Given the description of an element on the screen output the (x, y) to click on. 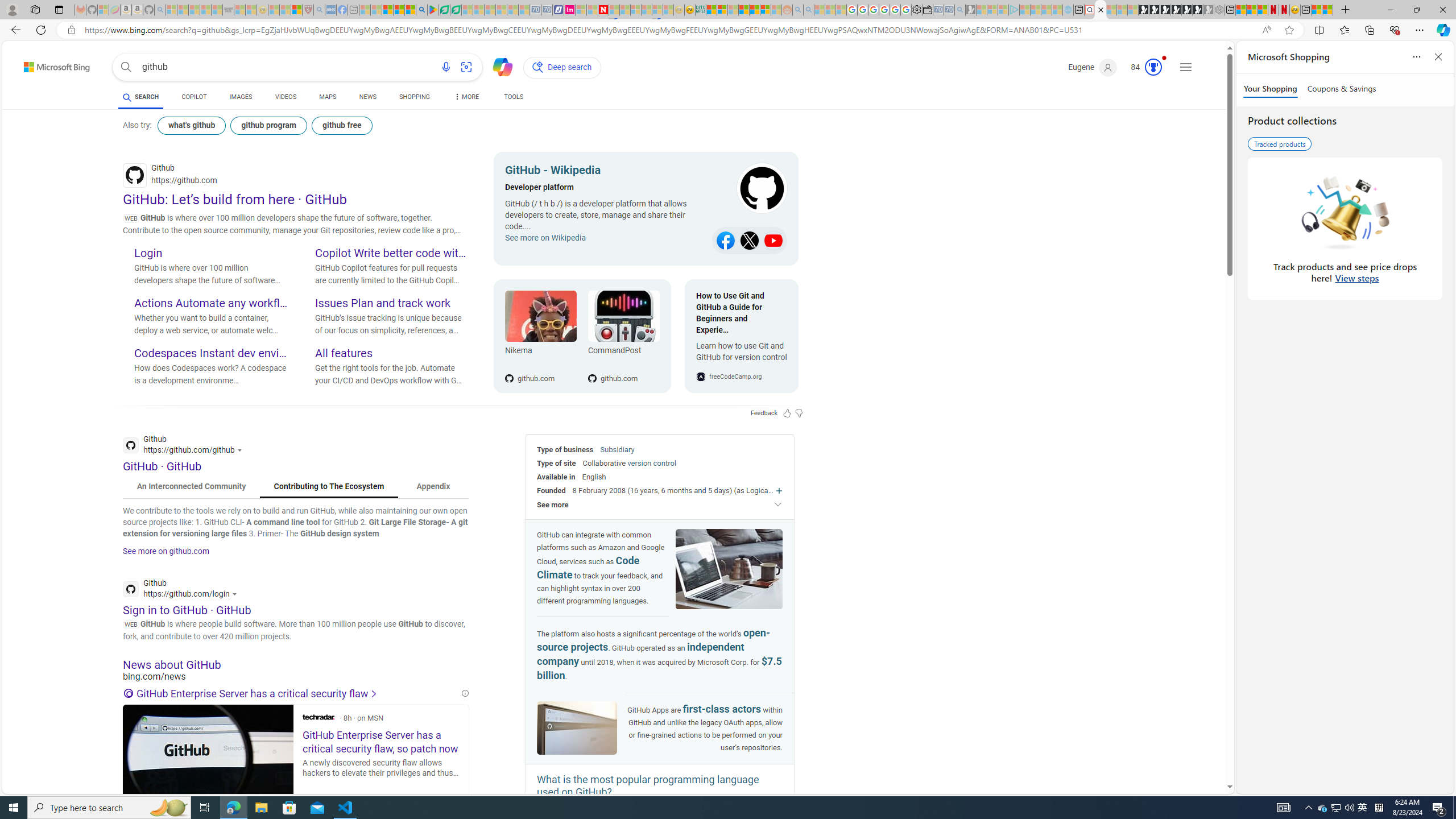
Animation (1163, 57)
An Interconnected Community (191, 486)
Latest Politics News & Archive | Newsweek.com (602, 9)
Search more (1204, 753)
Expert Portfolios (743, 9)
See more on github.com (165, 551)
